Given the description of an element on the screen output the (x, y) to click on. 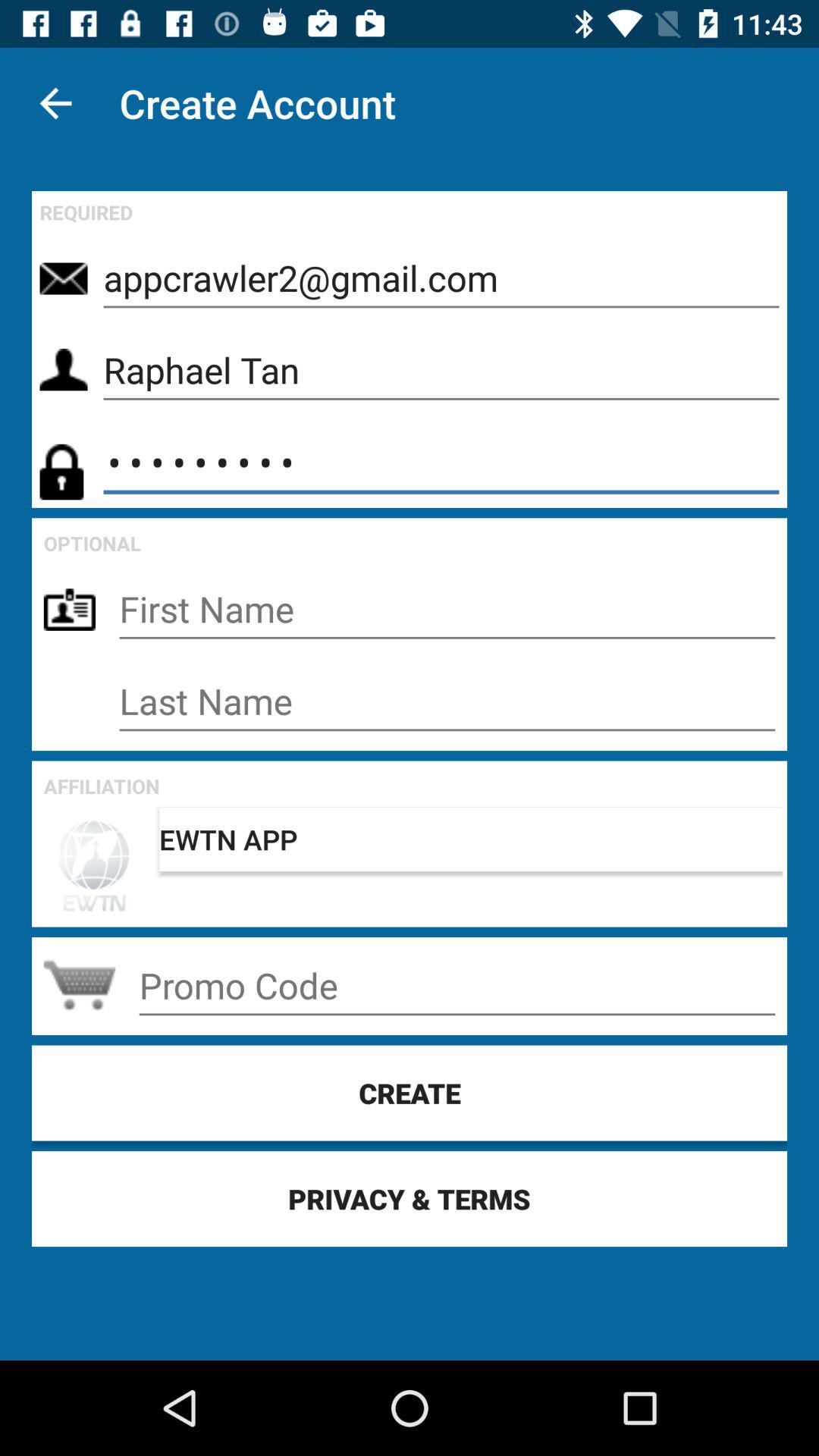
open icon below affiliation item (471, 839)
